Given the description of an element on the screen output the (x, y) to click on. 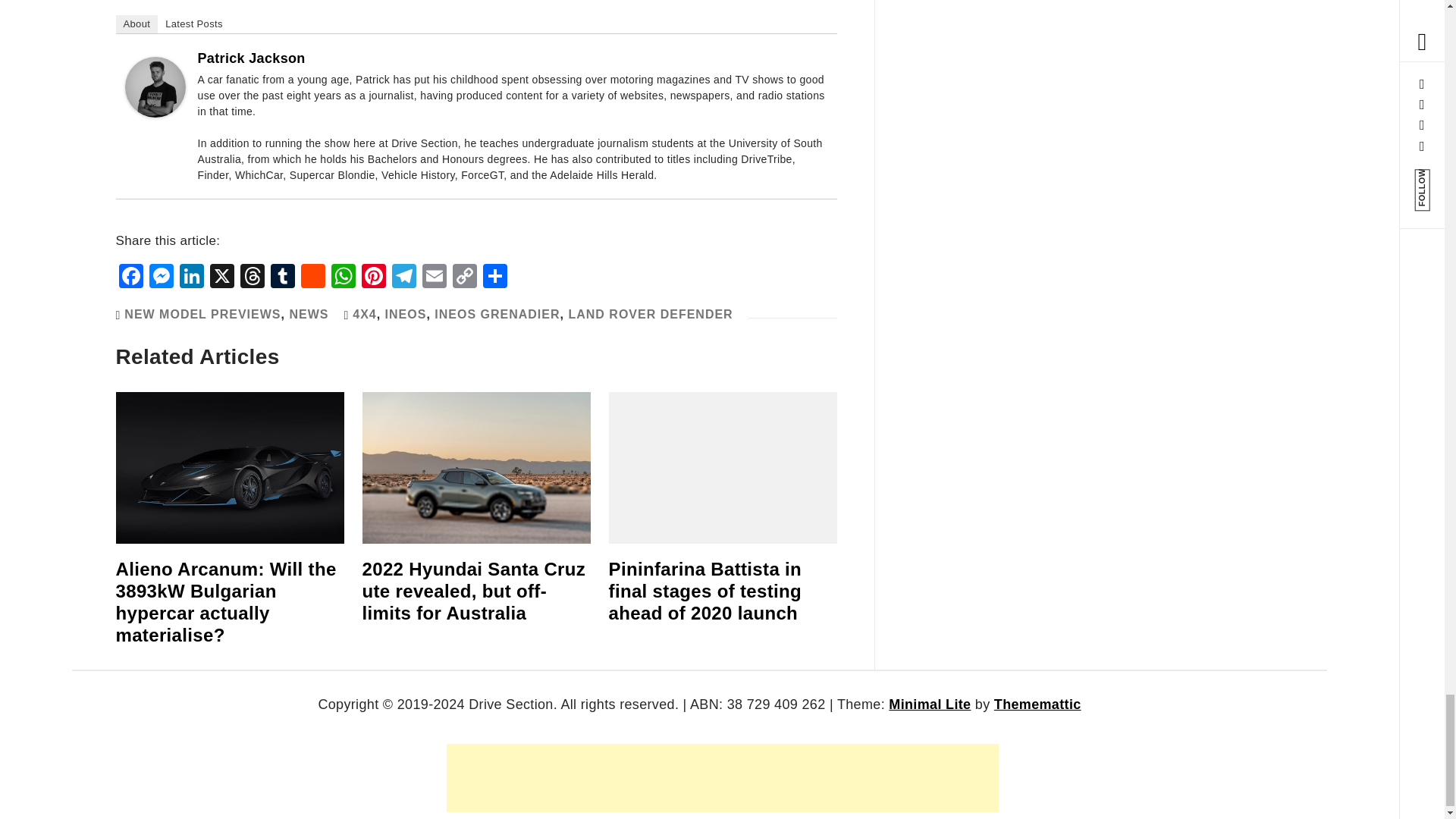
Patrick Jackson (250, 58)
Patrick Jackson (153, 86)
X (220, 277)
LinkedIn (191, 277)
Tumblr (281, 277)
WhatsApp (342, 277)
Messenger (160, 277)
About (136, 24)
Threads (250, 277)
Reddit (312, 277)
